Given the description of an element on the screen output the (x, y) to click on. 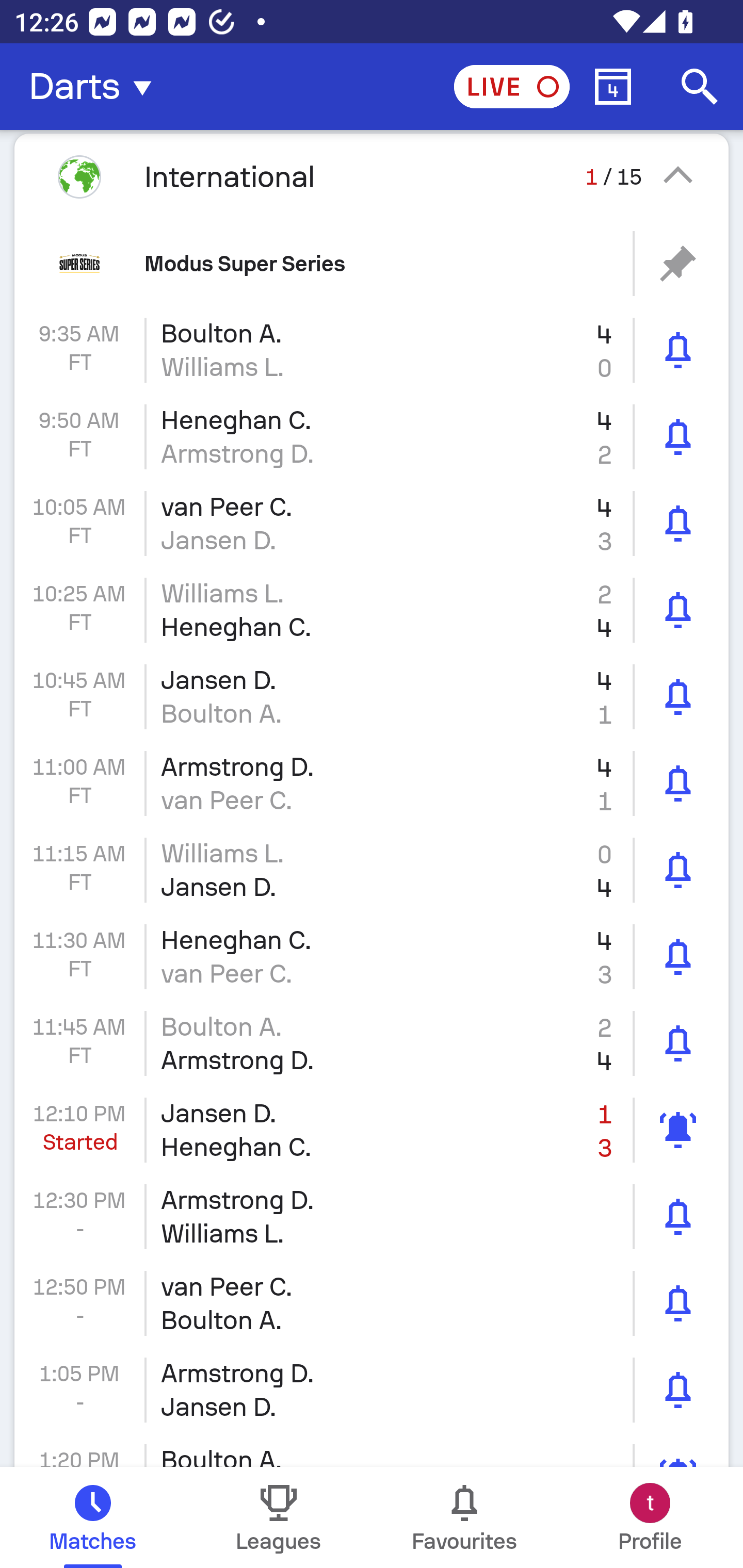
Darts (96, 86)
Calendar (612, 86)
Search (699, 86)
International 1 / 15 (371, 176)
Modus Super Series (371, 263)
9:35 AM FT Boulton A. 4 Williams L. 0 (371, 350)
9:50 AM FT Heneghan C. 4 Armstrong D. 2 (371, 436)
10:05 AM FT van Peer C. 4 Jansen D. 3 (371, 523)
10:25 AM FT Williams L. 2 Heneghan C. 4 (371, 610)
10:45 AM FT Jansen D. 4 Boulton A. 1 (371, 696)
11:00 AM FT Armstrong D. 4 van Peer C. 1 (371, 783)
11:15 AM FT Williams L. 0 Jansen D. 4 (371, 870)
11:30 AM FT Heneghan C. 4 van Peer C. 3 (371, 957)
11:45 AM FT Boulton A. 2 Armstrong D. 4 (371, 1043)
12:10 PM Started Jansen D. 1 Heneghan C. 3 (371, 1129)
12:30 PM - Armstrong D. Williams L. (371, 1216)
12:50 PM - van Peer C. Boulton A. (371, 1303)
1:05 PM - Armstrong D. Jansen D. (371, 1389)
Leagues (278, 1517)
Favourites (464, 1517)
Profile (650, 1517)
